Given the description of an element on the screen output the (x, y) to click on. 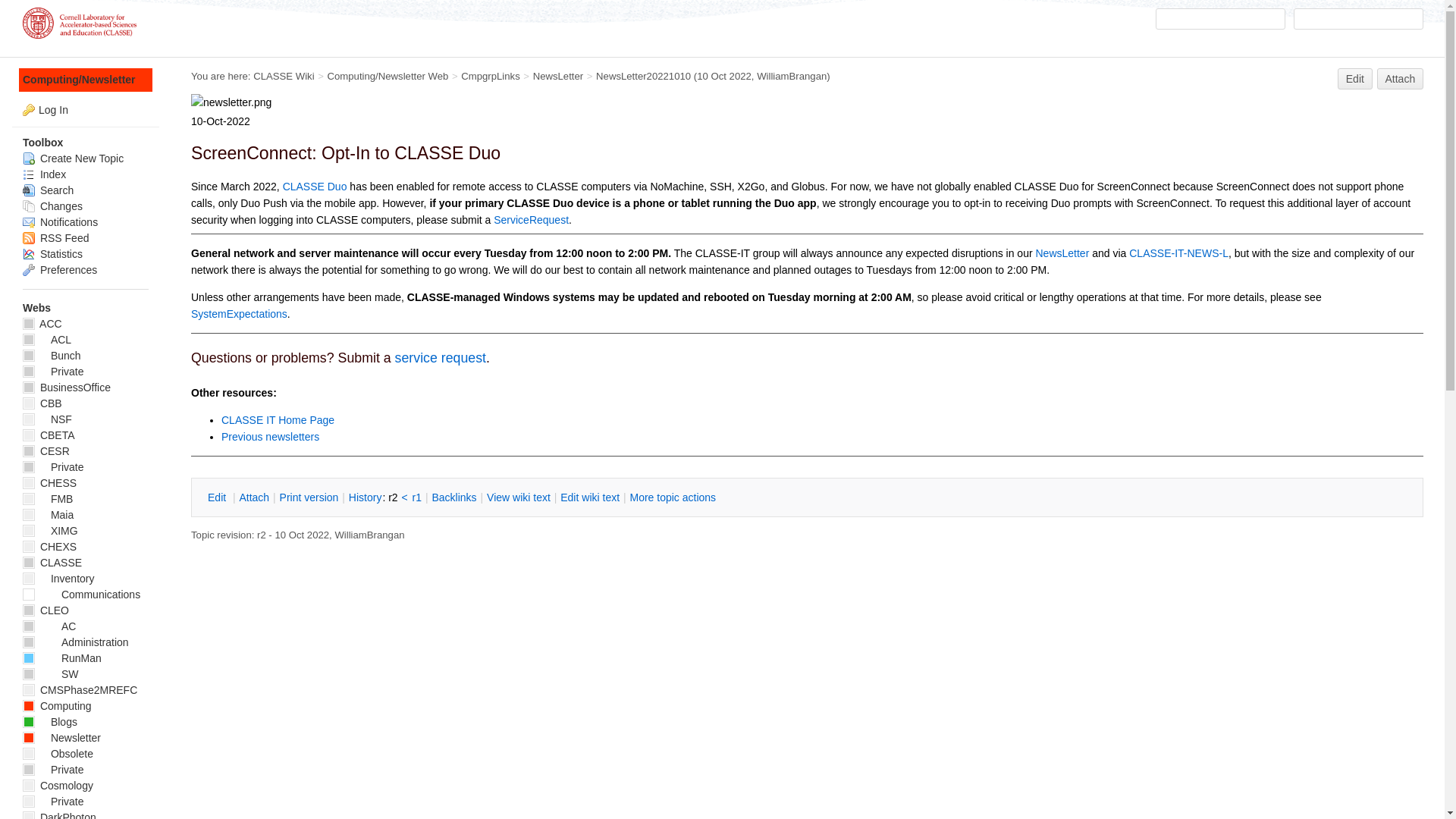
Edit Wiki text (589, 497)
Index (44, 174)
WilliamBrangan (792, 75)
View wiki text (518, 497)
Printable version of this topic (309, 497)
Preferences (60, 269)
WilliamBrangan (369, 534)
Attach (253, 497)
Changes (52, 205)
